Given the description of an element on the screen output the (x, y) to click on. 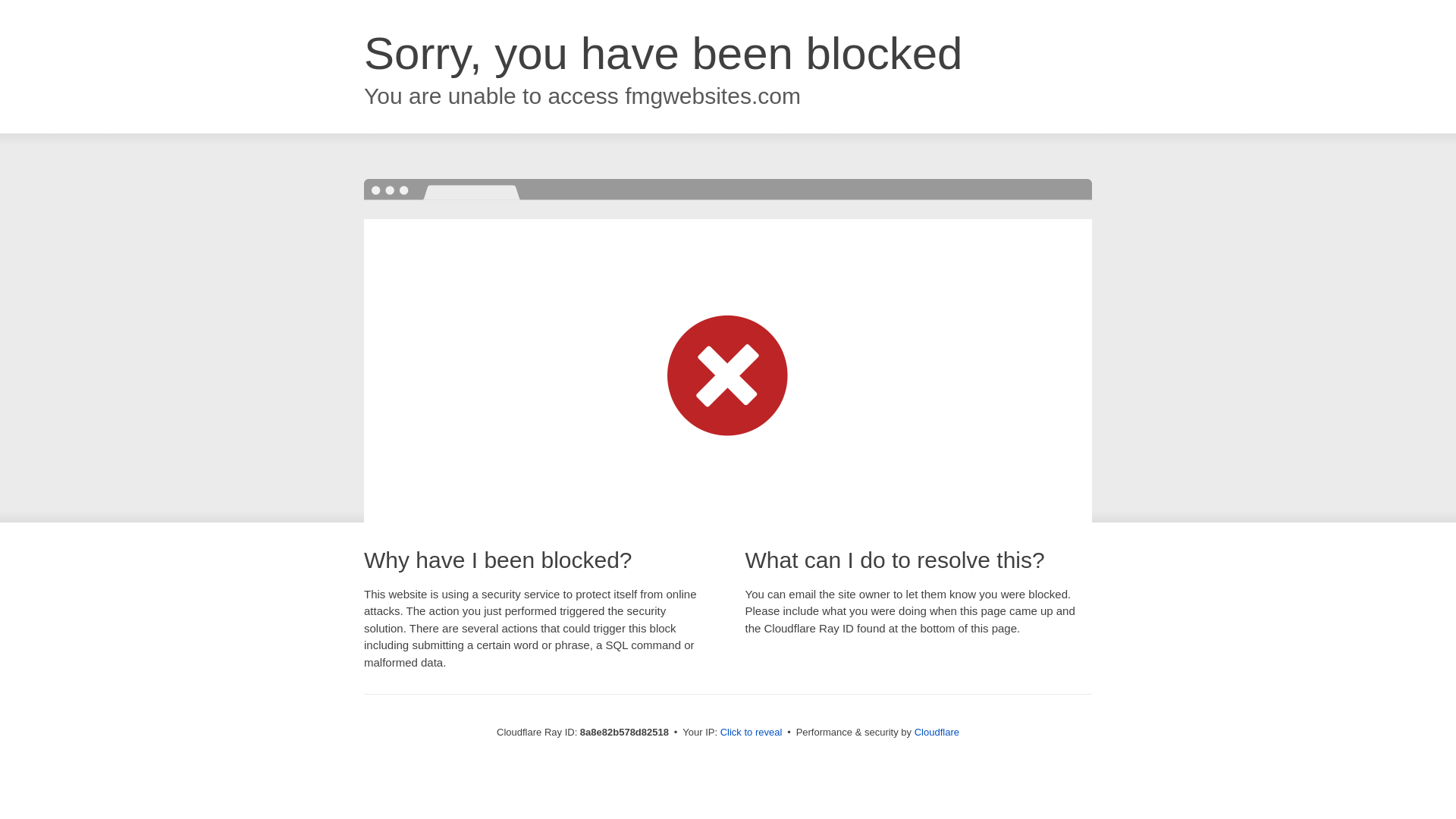
Click to reveal (751, 732)
Cloudflare (936, 731)
